Given the description of an element on the screen output the (x, y) to click on. 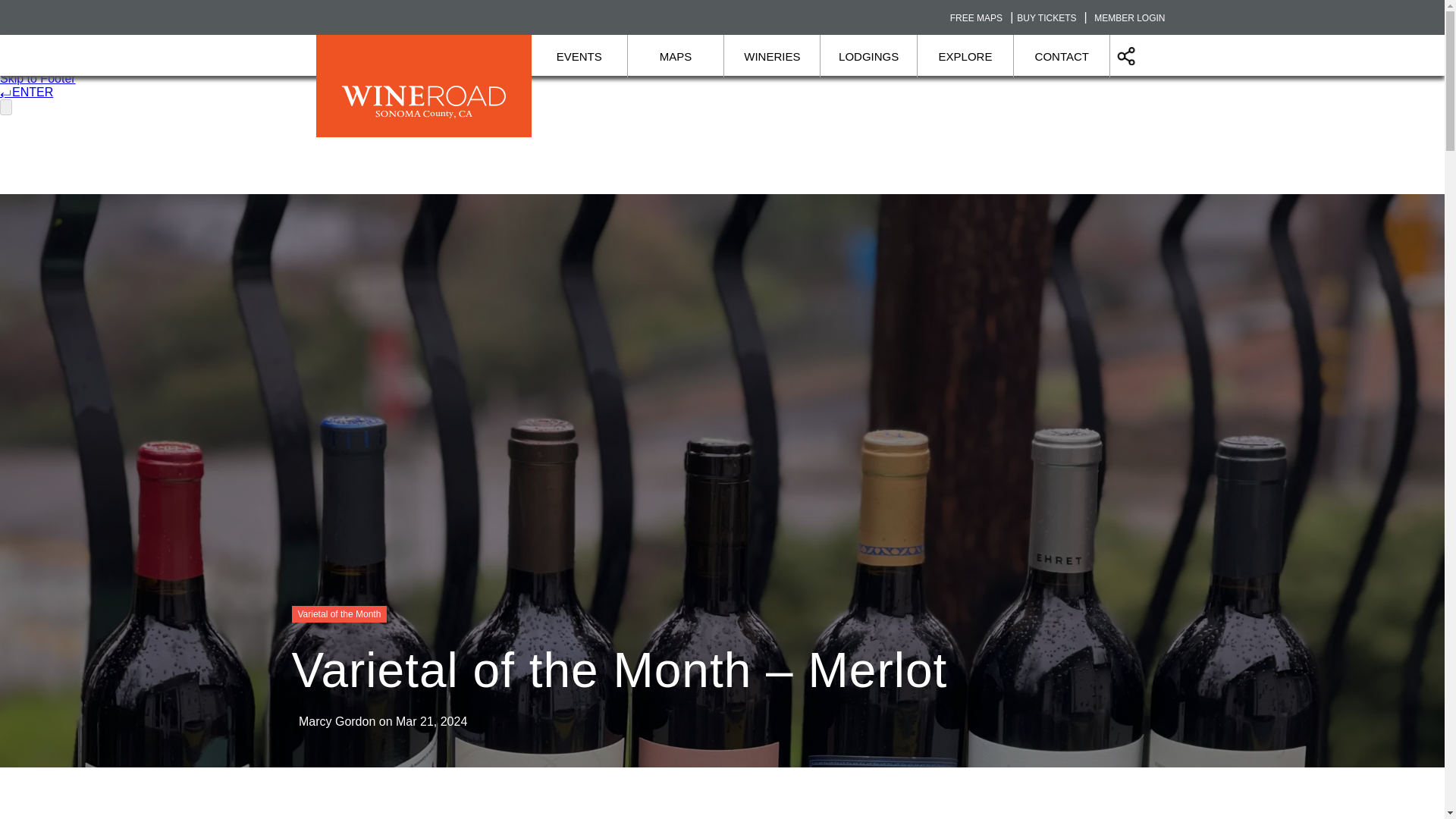
MEMBER LOGIN (1129, 18)
EXPLORE (965, 55)
FREE MAPS (976, 18)
CONTACT (1061, 55)
WINERIES (772, 55)
BUY TICKETS (1045, 18)
EVENTS (579, 55)
Our social media (1124, 56)
MAPS (675, 55)
LODGINGS (869, 55)
